Given the description of an element on the screen output the (x, y) to click on. 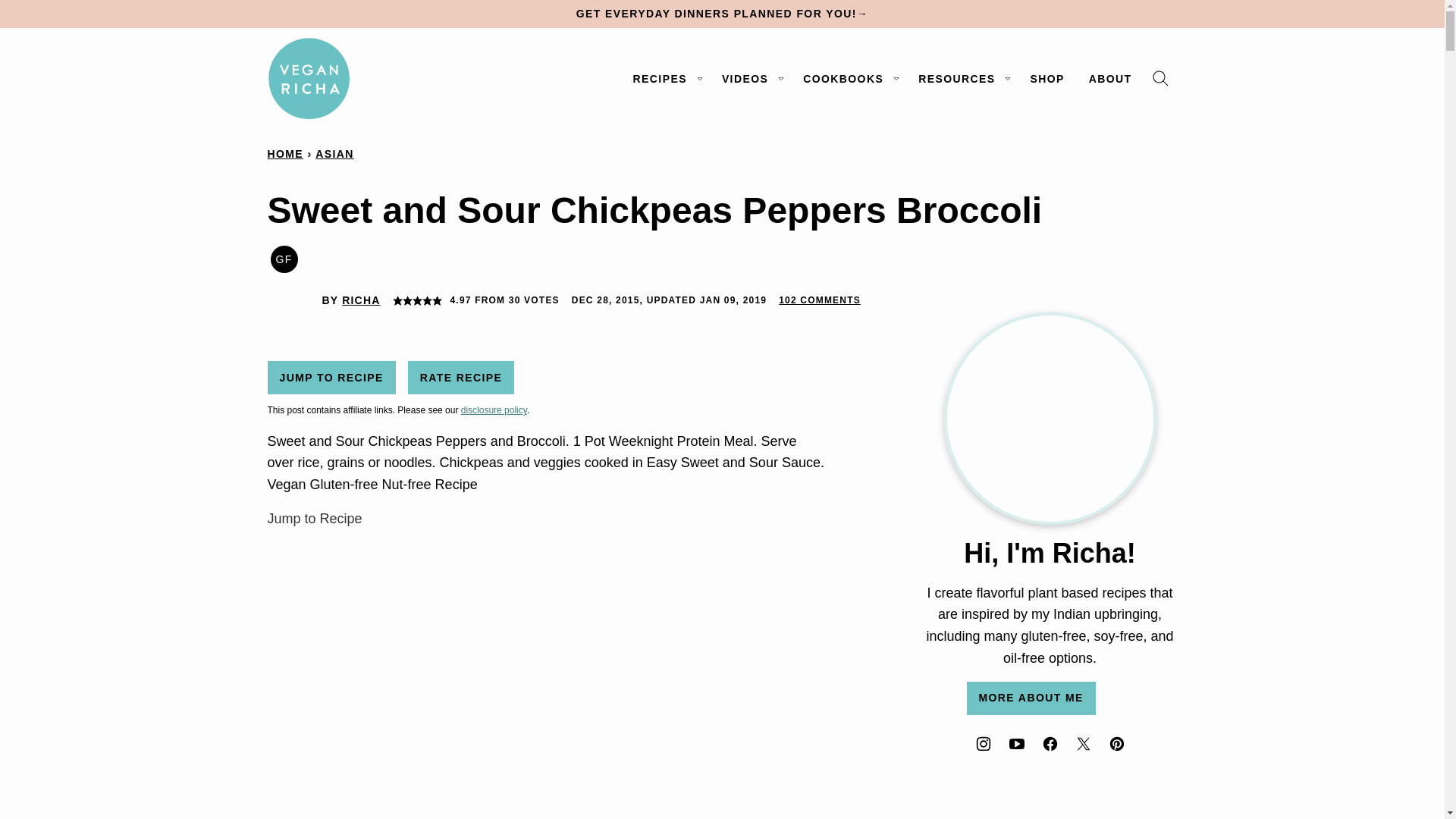
RESOURCES (961, 78)
VIDEOS (750, 78)
COOKBOOKS (847, 78)
RECIPES (665, 78)
SHOP (1046, 78)
ABOUT (1110, 78)
My Cookbooks (847, 78)
Gluten Free (282, 259)
